Given the description of an element on the screen output the (x, y) to click on. 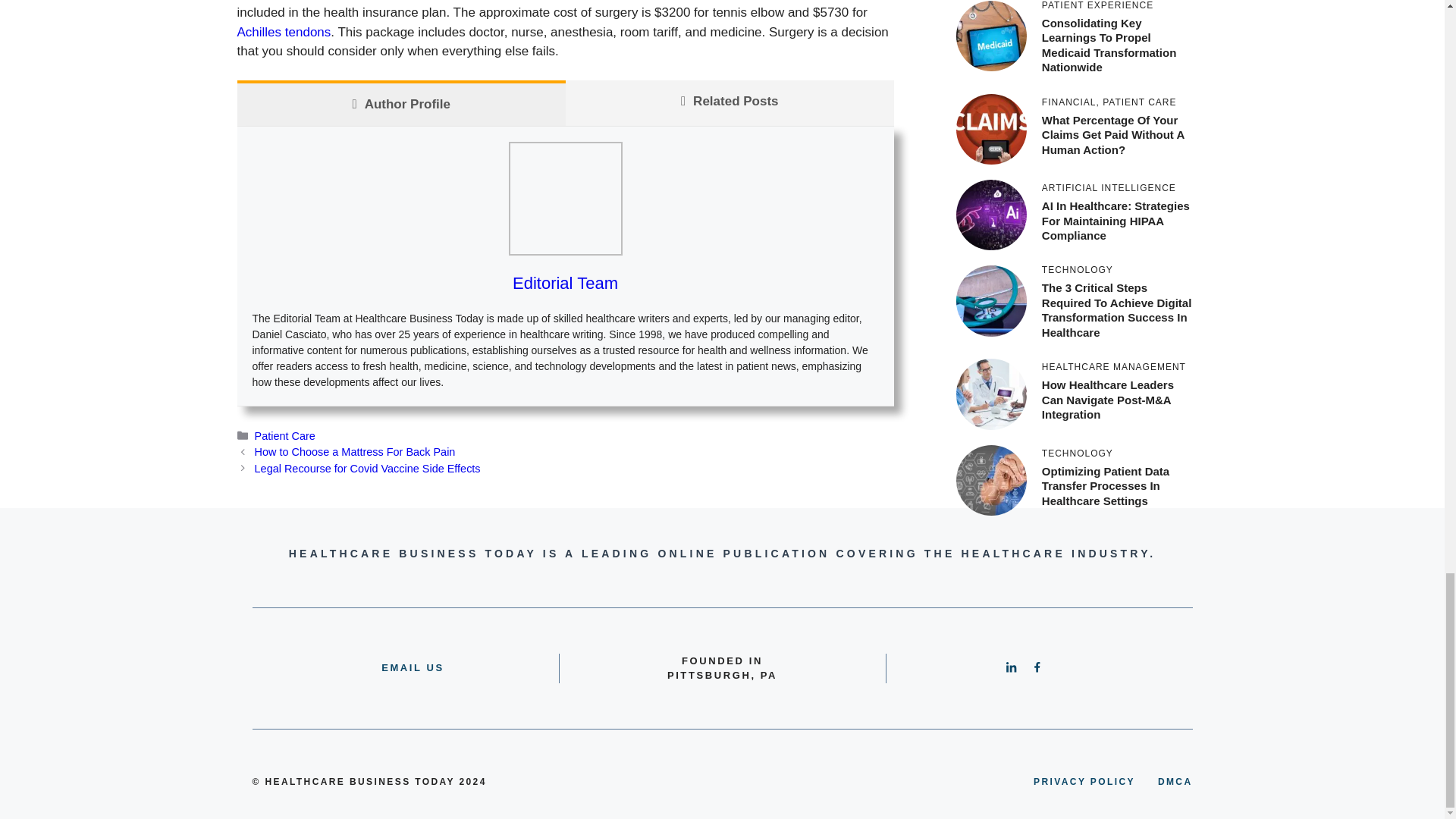
Achilles tendons (282, 32)
Everything You Need to Know About Tendonitis 1 (564, 198)
Legal Recourse for Covid Vaccine Side Effects (367, 468)
Patient Care (284, 435)
How to Choose a Mattress For Back Pain (354, 451)
Editorial Team (564, 282)
